Given the description of an element on the screen output the (x, y) to click on. 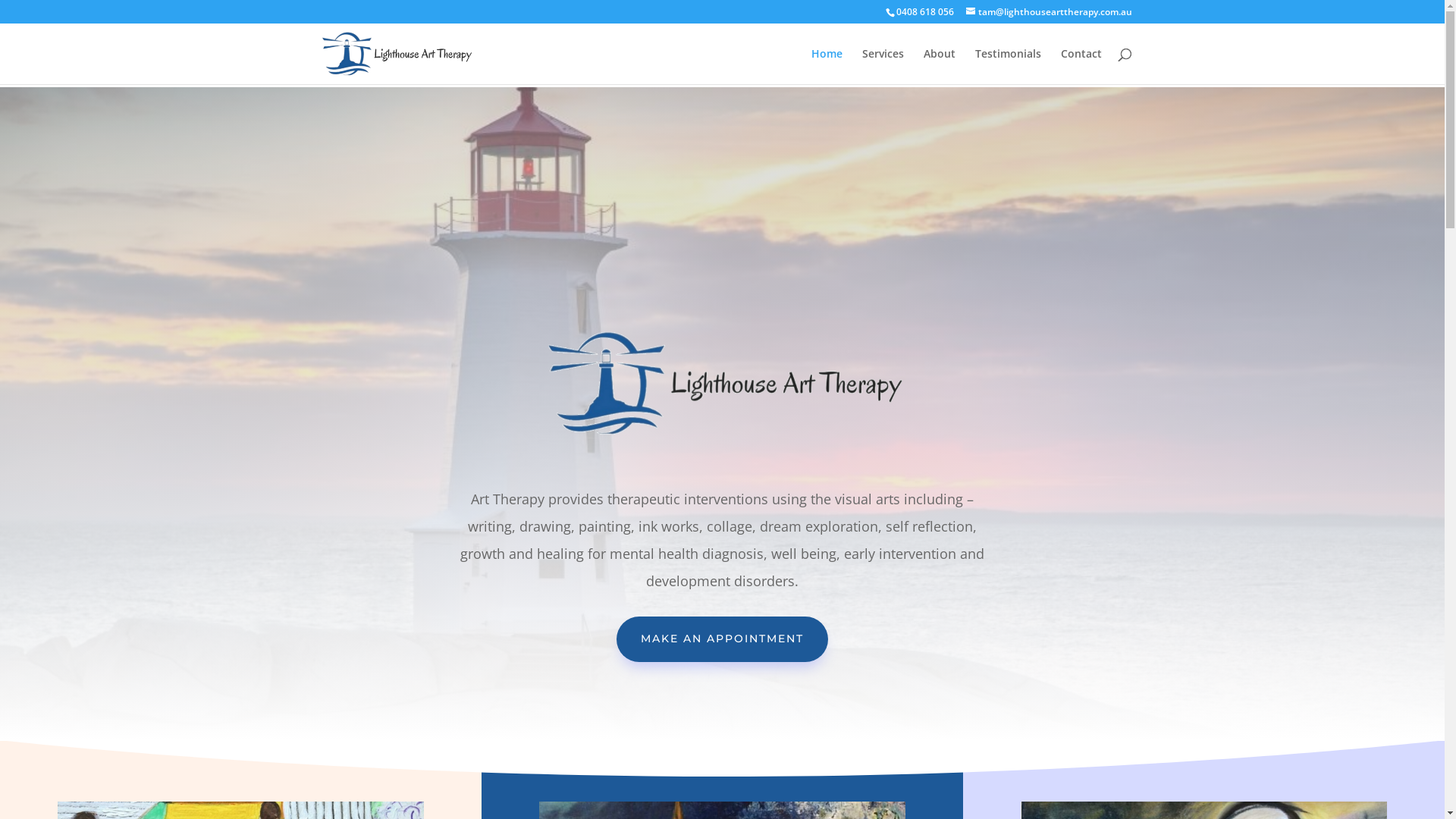
Logo trans Element type: hover (721, 383)
Services Element type: text (882, 66)
Home Element type: text (826, 66)
tam@lighthousearttherapy.com.au Element type: text (1049, 11)
MAKE AN APPOINTMENT Element type: text (722, 639)
Testimonials Element type: text (1008, 66)
About Element type: text (939, 66)
Contact Element type: text (1080, 66)
